Given the description of an element on the screen output the (x, y) to click on. 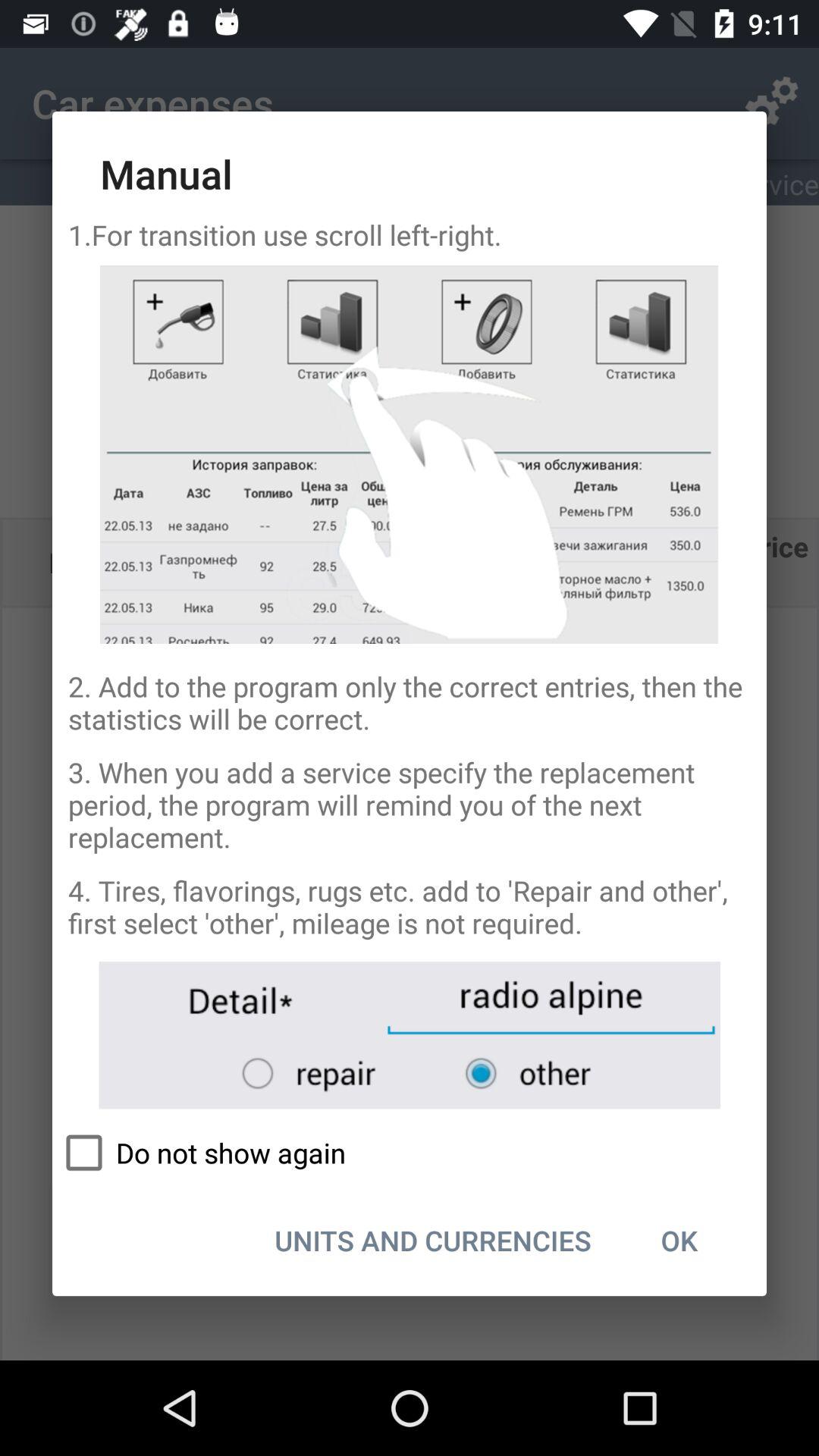
press item below the do not show icon (432, 1240)
